Given the description of an element on the screen output the (x, y) to click on. 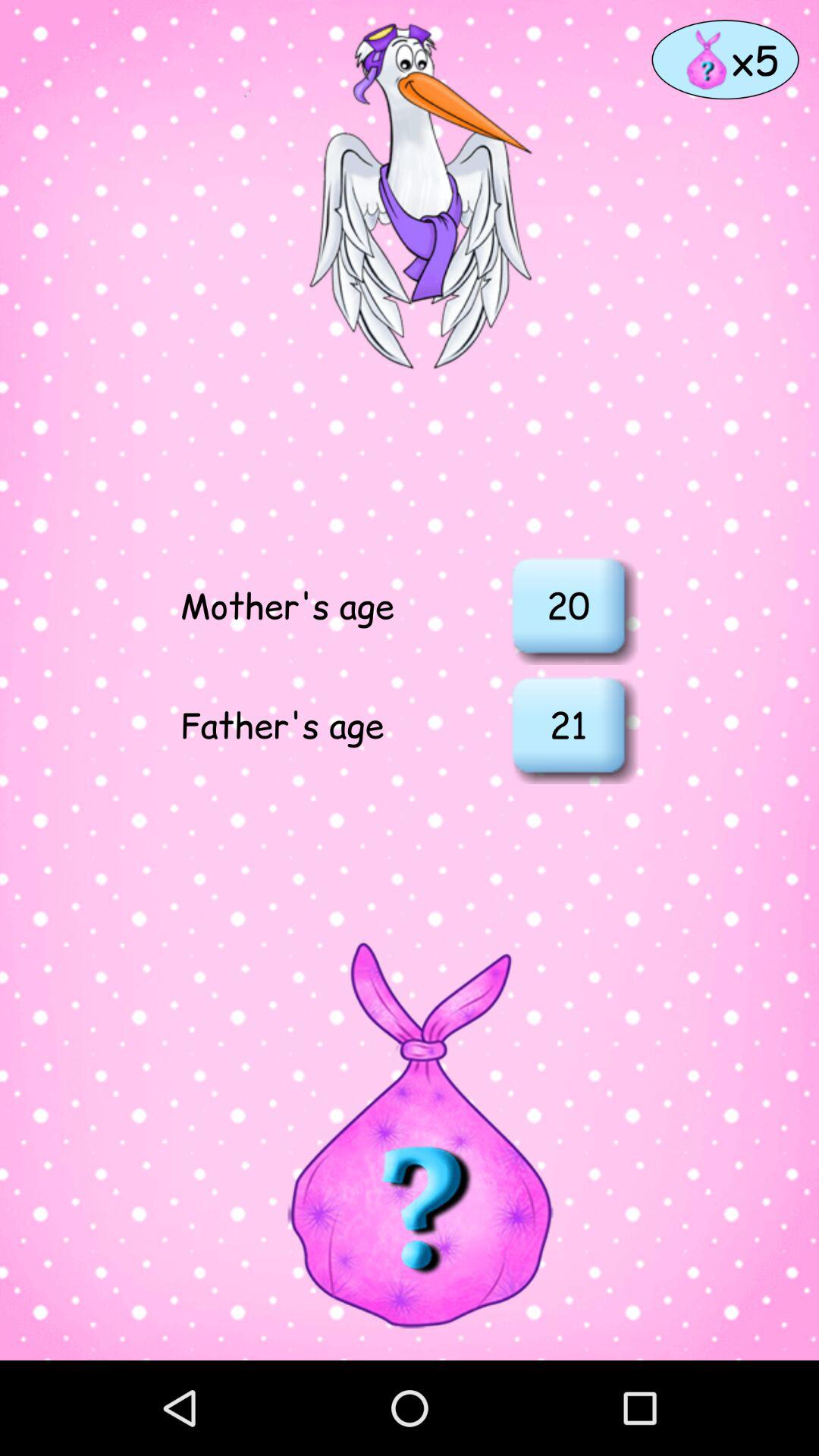
press the icon next to the mother's age icon (568, 604)
